Given the description of an element on the screen output the (x, y) to click on. 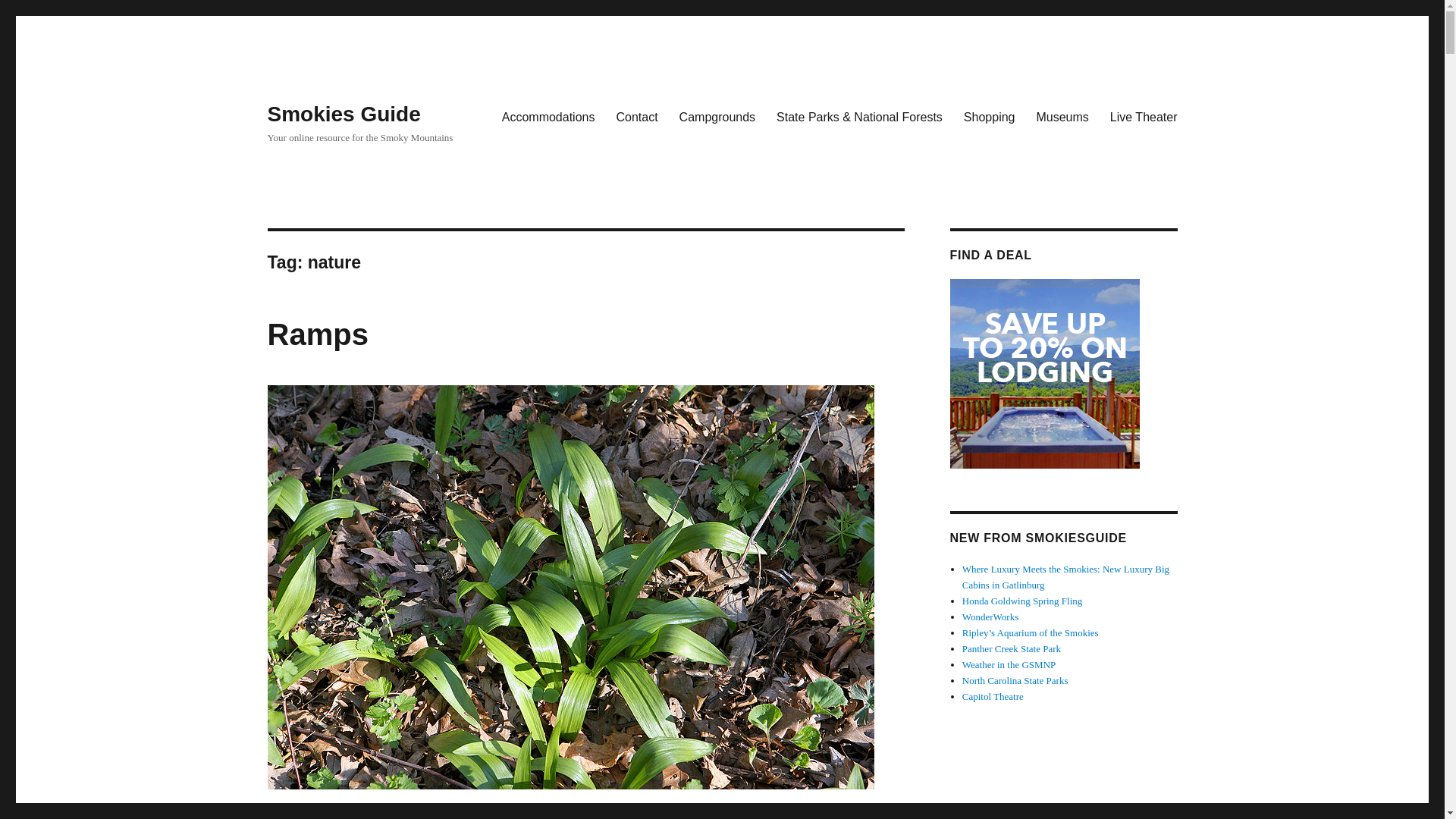
Live Theater (1143, 116)
Museums (1062, 116)
Shopping (989, 116)
Accommodations (548, 116)
Contact (636, 116)
Campgrounds (717, 116)
Smokies Guide (343, 114)
Ramps (317, 334)
